Given the description of an element on the screen output the (x, y) to click on. 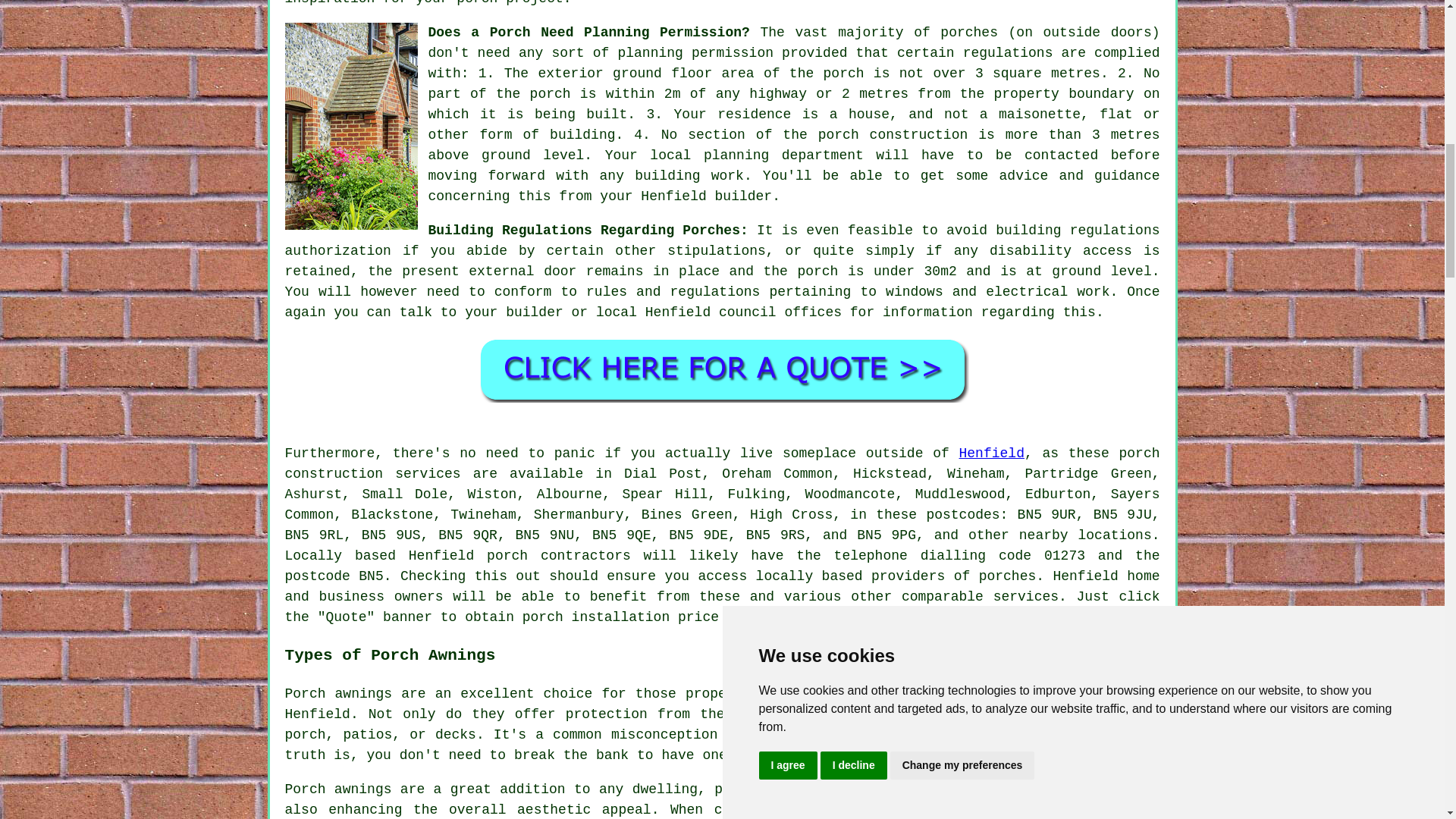
porch (506, 555)
porches (1007, 575)
Porch awnings (339, 693)
porch (542, 616)
